Given the description of an element on the screen output the (x, y) to click on. 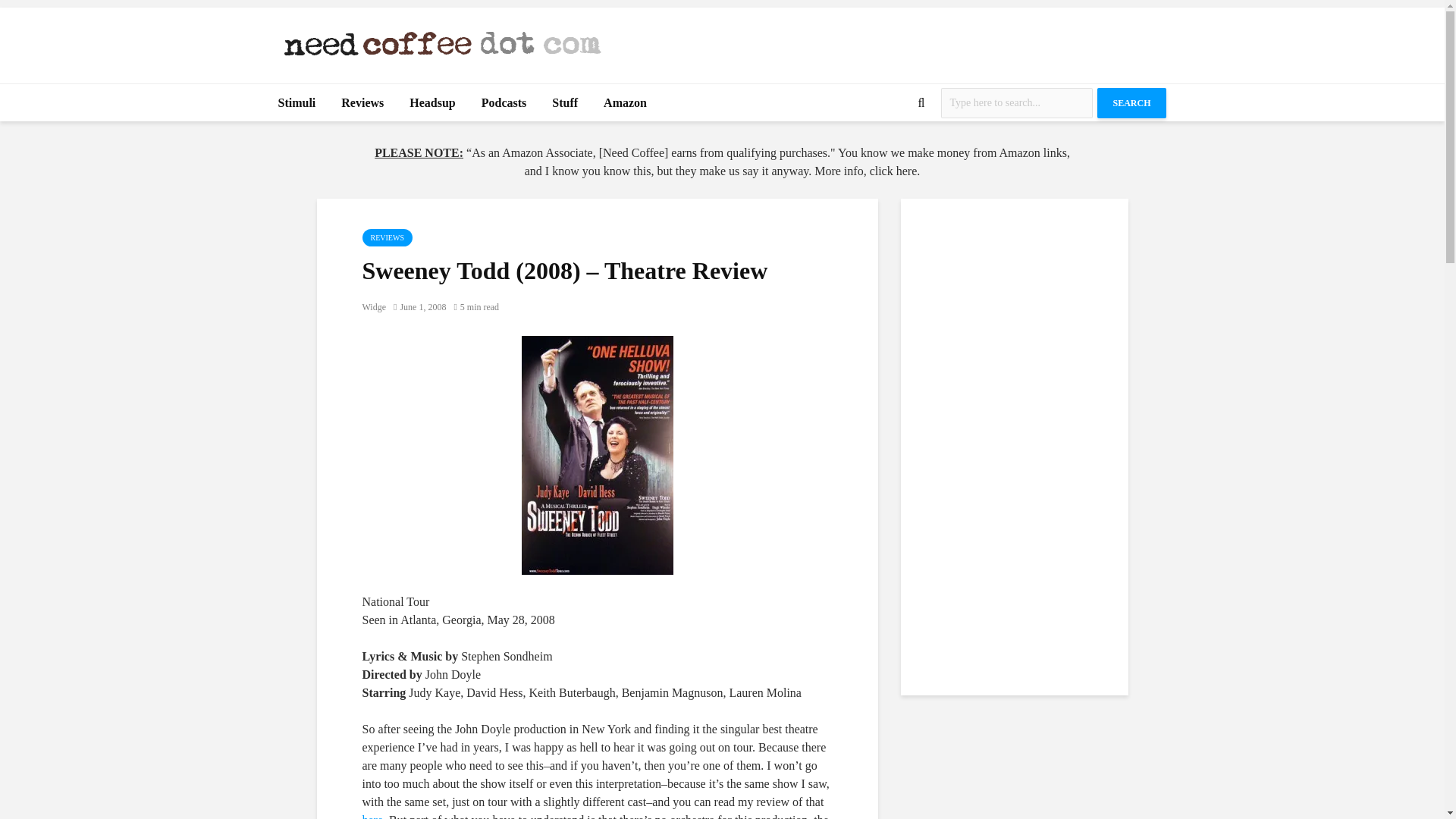
Reviews (362, 103)
Headsup (431, 103)
Stuff (564, 103)
Amazon (625, 103)
REVIEWS (387, 237)
Advertisement (890, 41)
Widge (374, 307)
SEARCH (1131, 102)
Stimuli (296, 103)
click here. (894, 170)
Podcasts (504, 103)
here (373, 816)
